Given the description of an element on the screen output the (x, y) to click on. 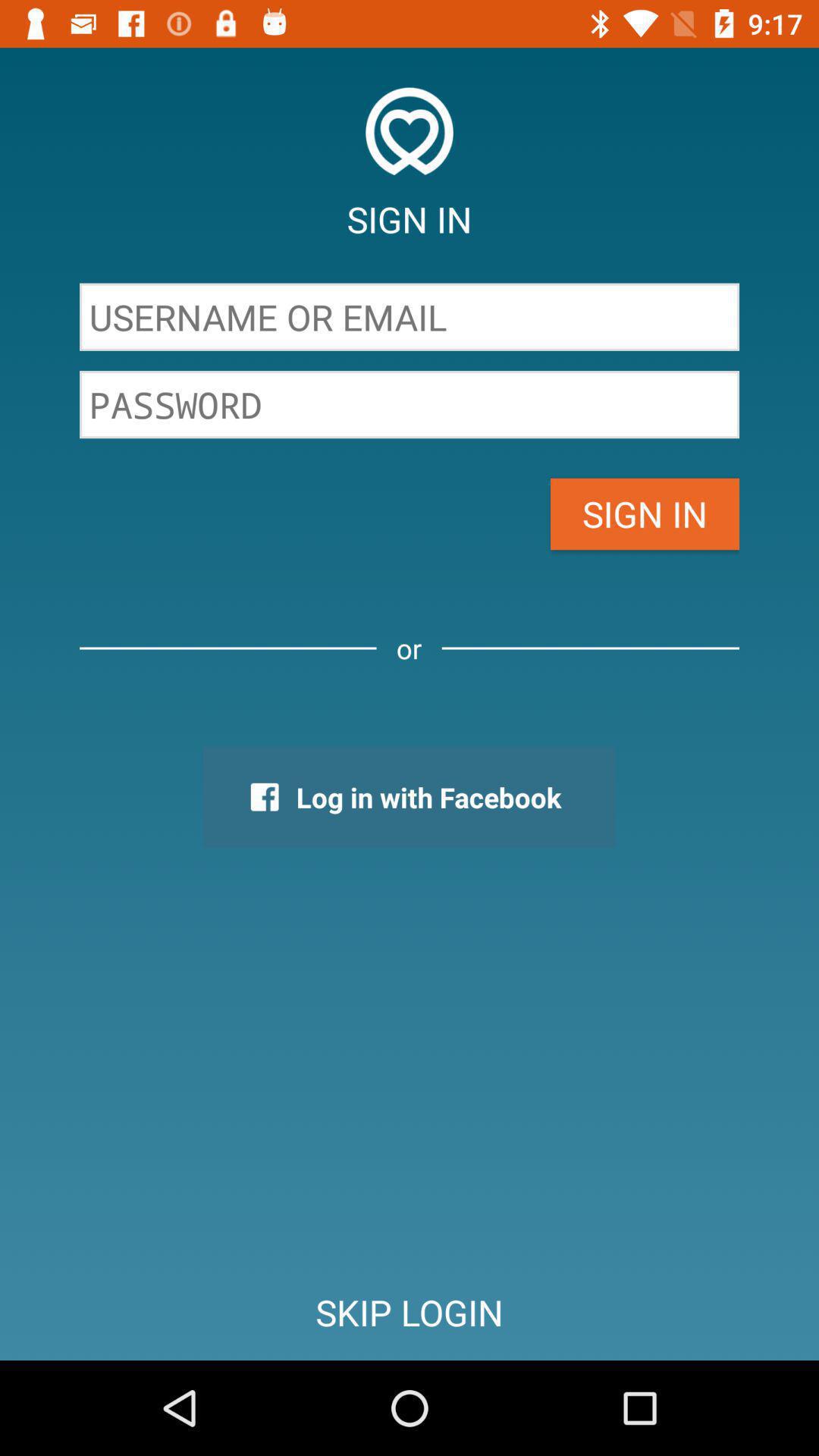
password area (409, 404)
